Given the description of an element on the screen output the (x, y) to click on. 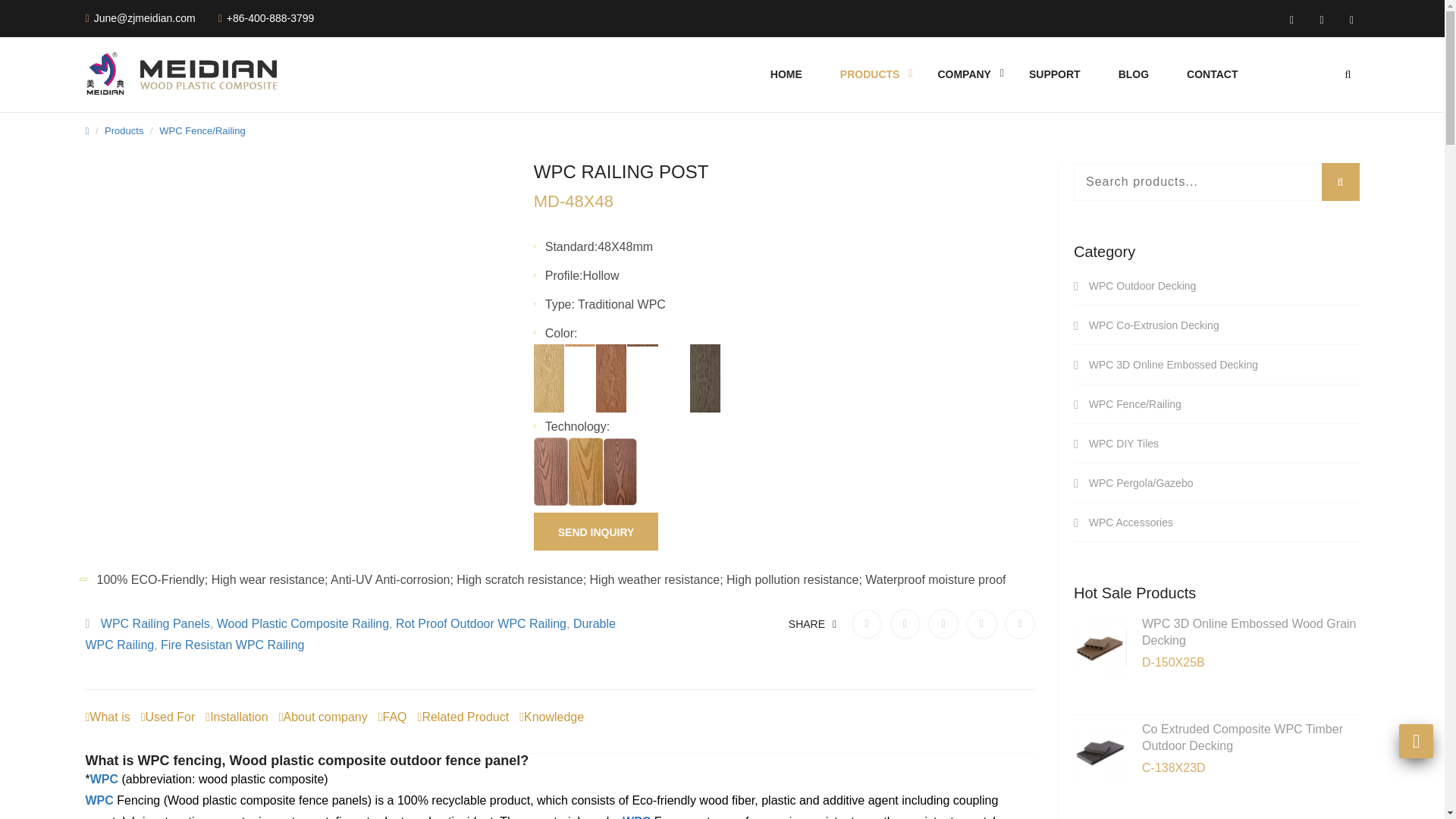
SUPPORT (1069, 74)
Pine Color (549, 377)
Products (123, 130)
Red Brown (610, 377)
COMPANY (979, 74)
CONTACT (1227, 74)
Red Pine (579, 377)
WPC Decking, China WPC Manufacturer, Factory Price (190, 73)
PRODUCTS (885, 74)
